Given the description of an element on the screen output the (x, y) to click on. 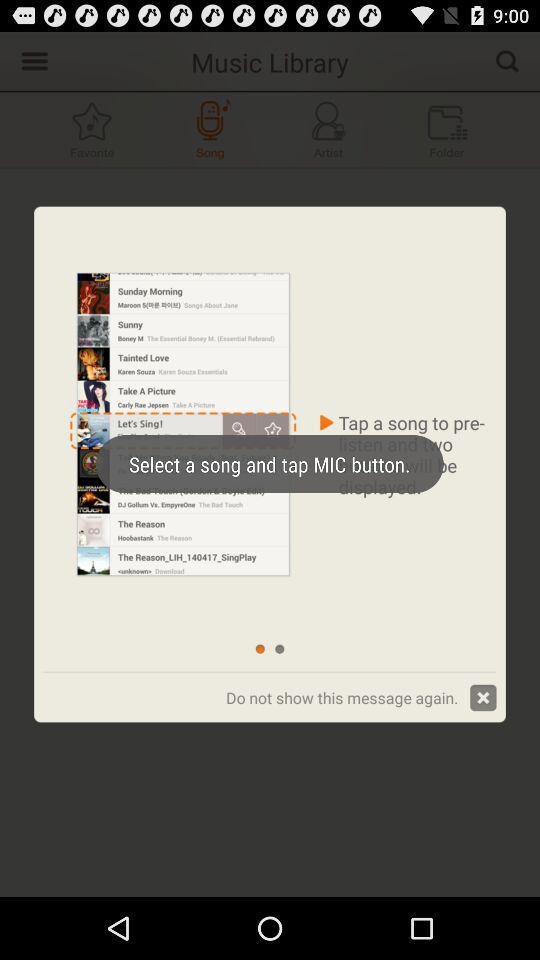
go to favorites (92, 129)
